Given the description of an element on the screen output the (x, y) to click on. 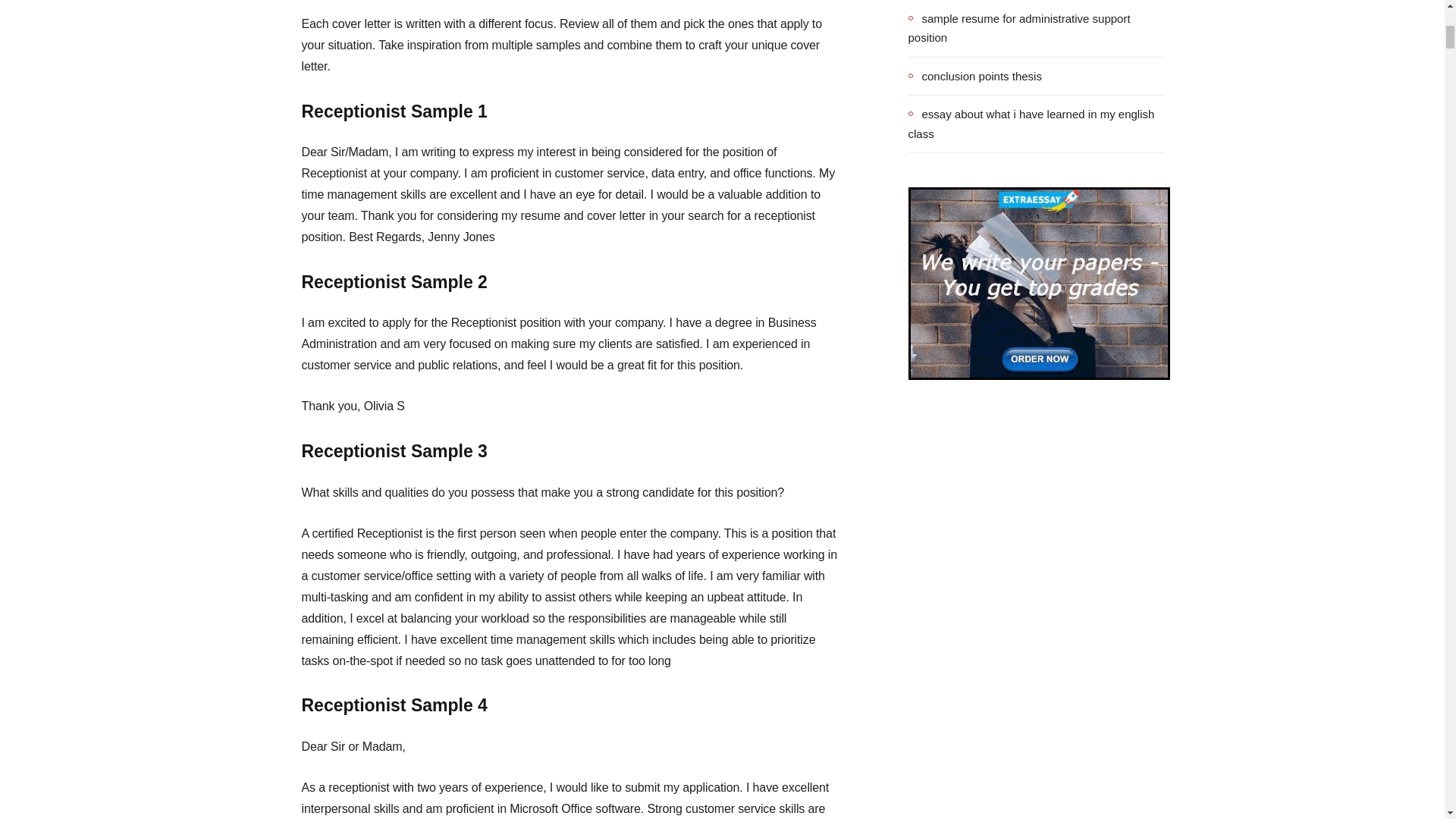
essay about what i have learned in my english class (1037, 123)
conclusion points thesis (975, 76)
sample resume for administrative support position (1037, 28)
